Given the description of an element on the screen output the (x, y) to click on. 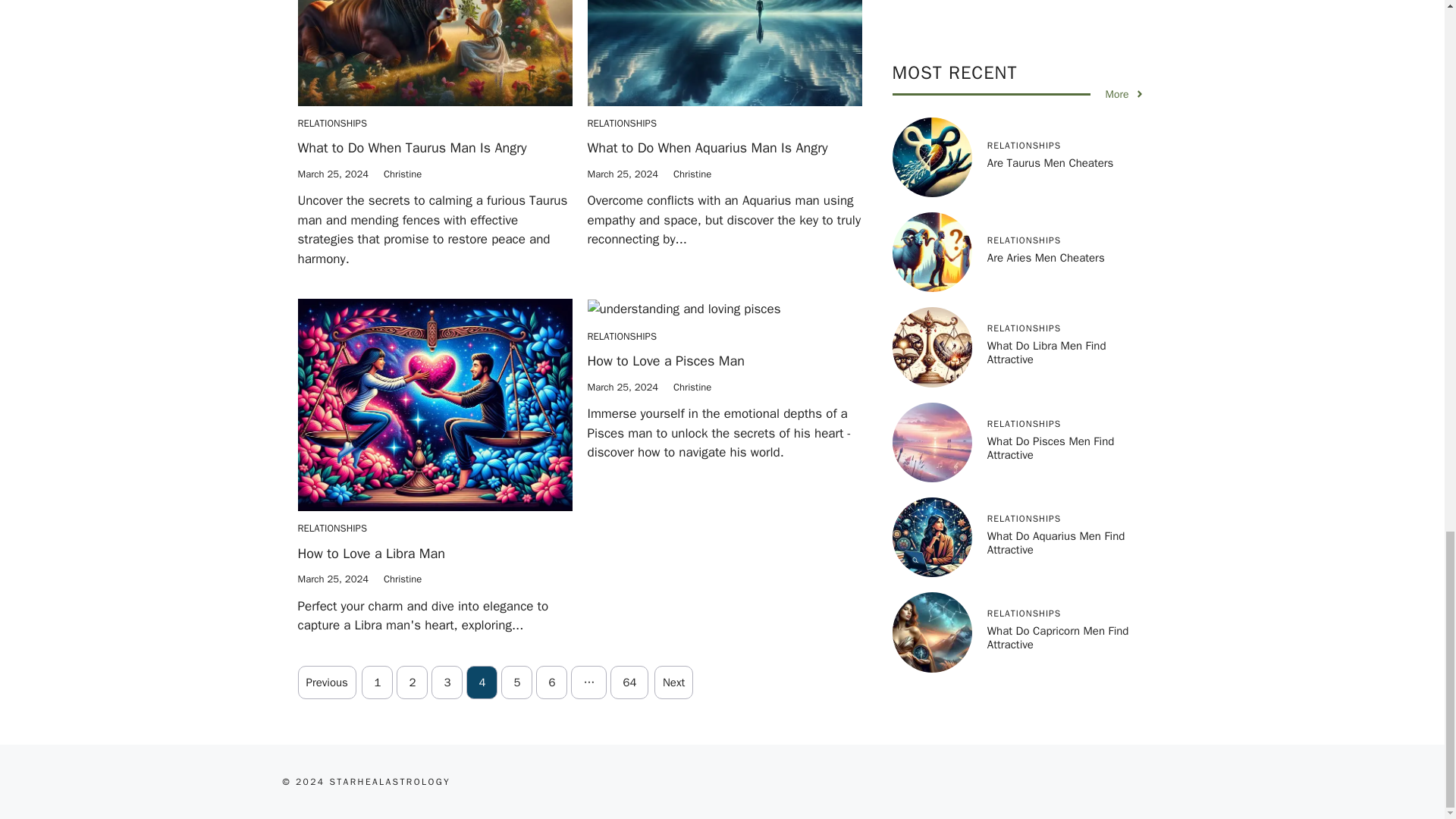
RELATIONSHIPS (331, 123)
RELATIONSHIPS (621, 123)
What to Do When Taurus Man Is Angry (411, 147)
What to Do When Aquarius Man Is Angry (706, 147)
RELATIONSHIPS (331, 527)
